Given the description of an element on the screen output the (x, y) to click on. 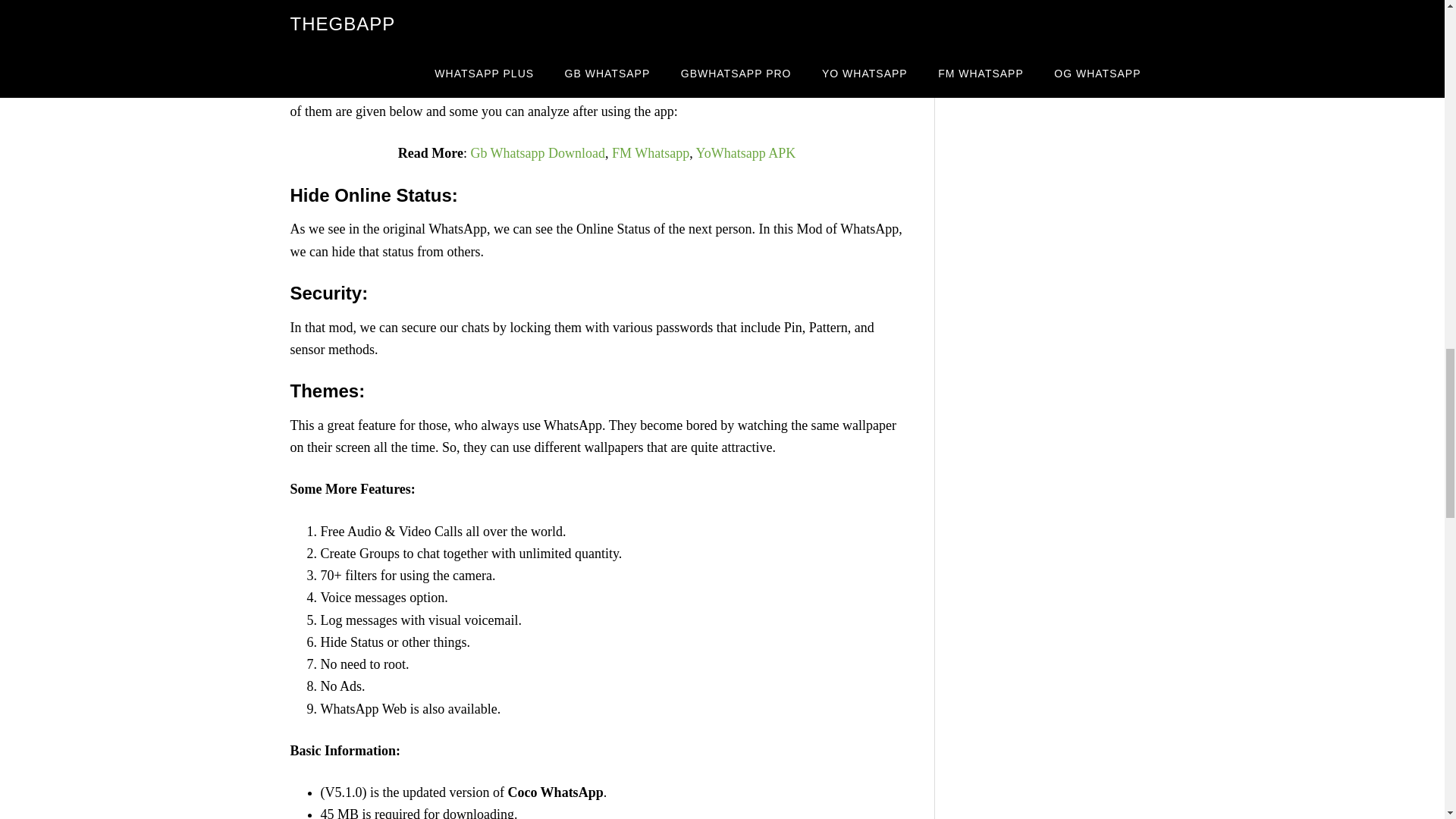
FM Whatsapp (649, 152)
Download COCOWhatsApp (596, 19)
Gb Whatsapp Download (537, 152)
YoWhatsapp APK (745, 152)
